Given the description of an element on the screen output the (x, y) to click on. 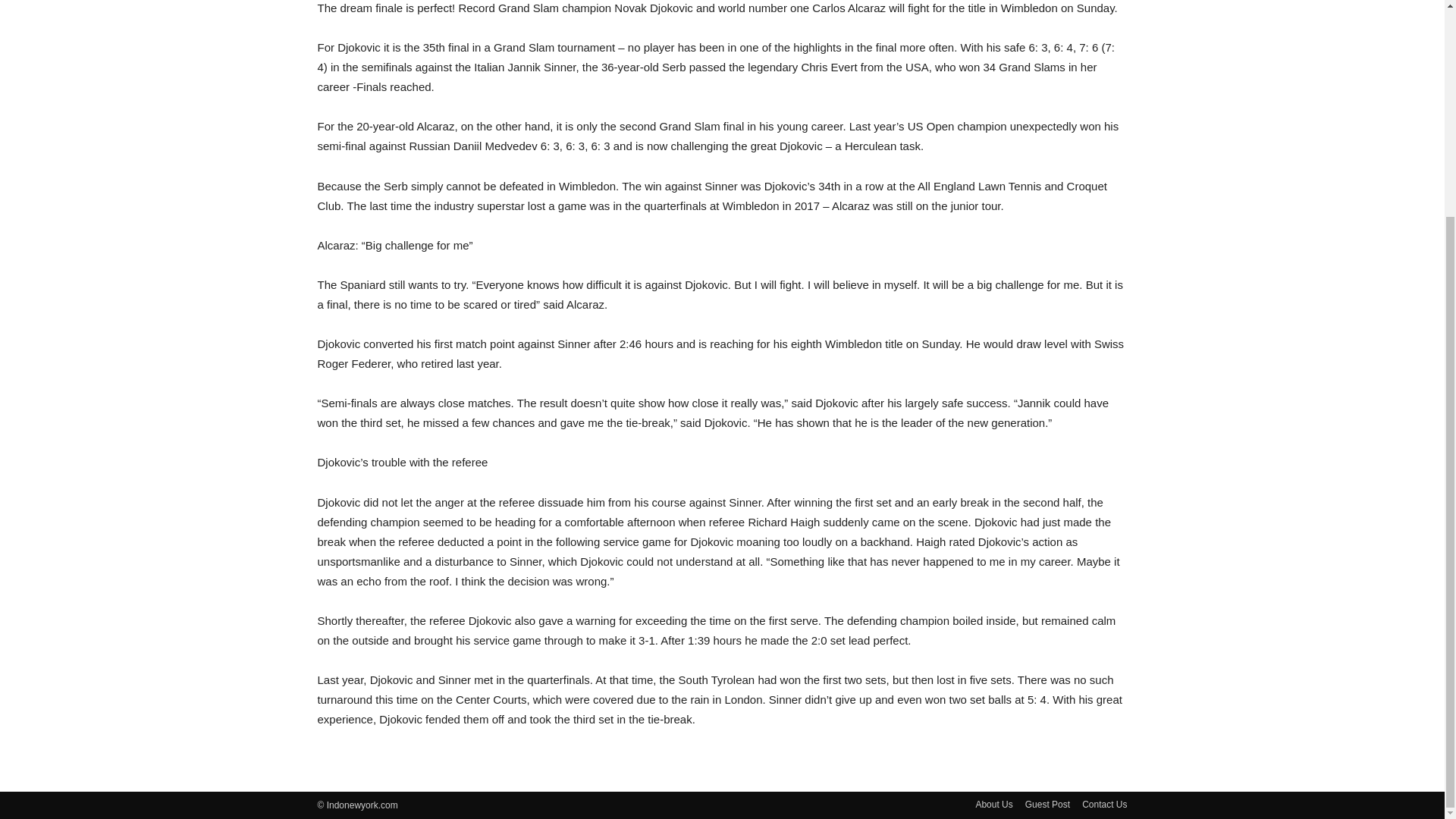
Contact Us (1103, 804)
About Us (993, 804)
Guest Post (1047, 804)
